Given the description of an element on the screen output the (x, y) to click on. 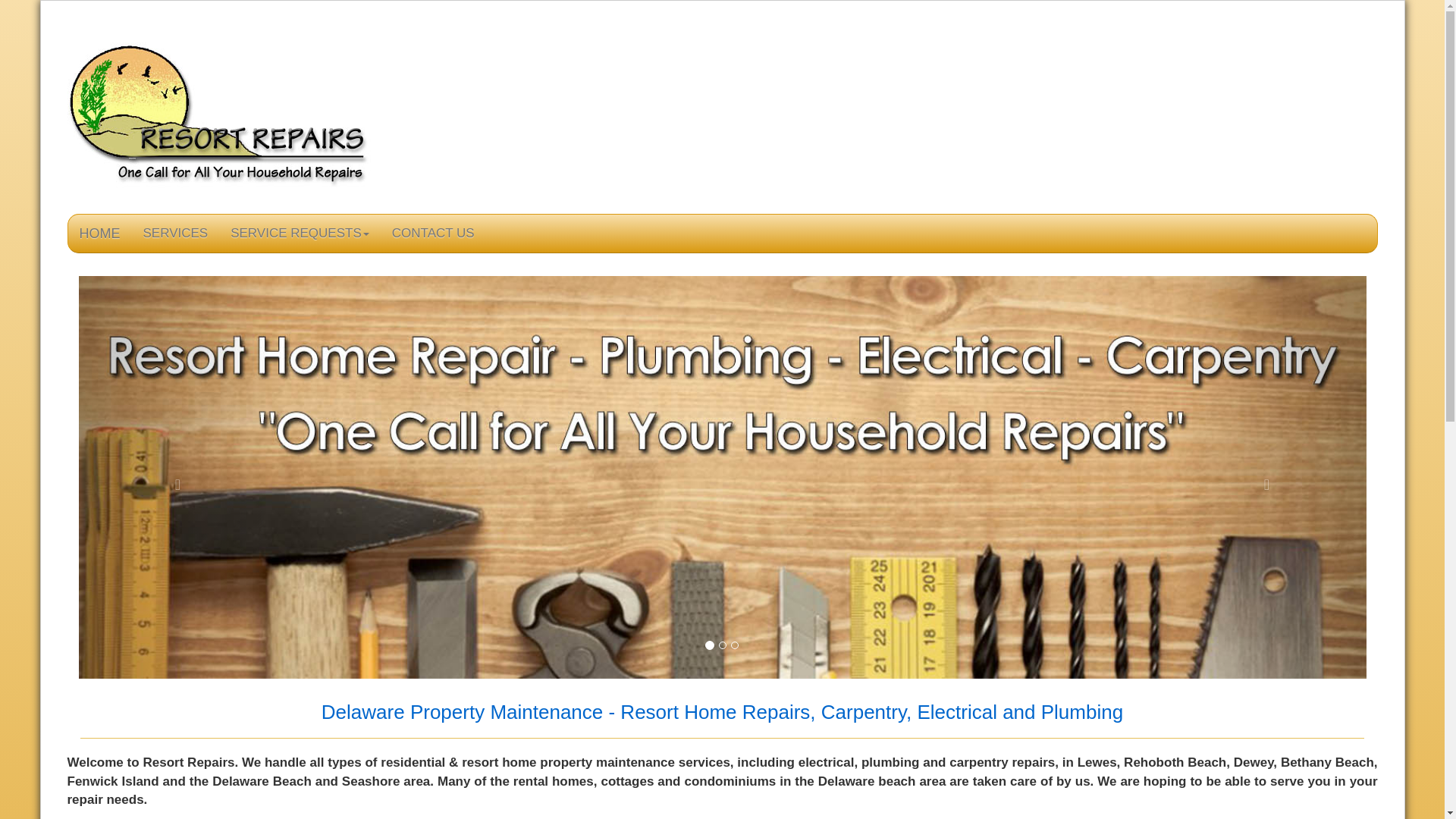
SERVICES (175, 233)
SERVICE REQUESTS (299, 233)
HOME (100, 233)
CONTACT US (433, 233)
